Given the description of an element on the screen output the (x, y) to click on. 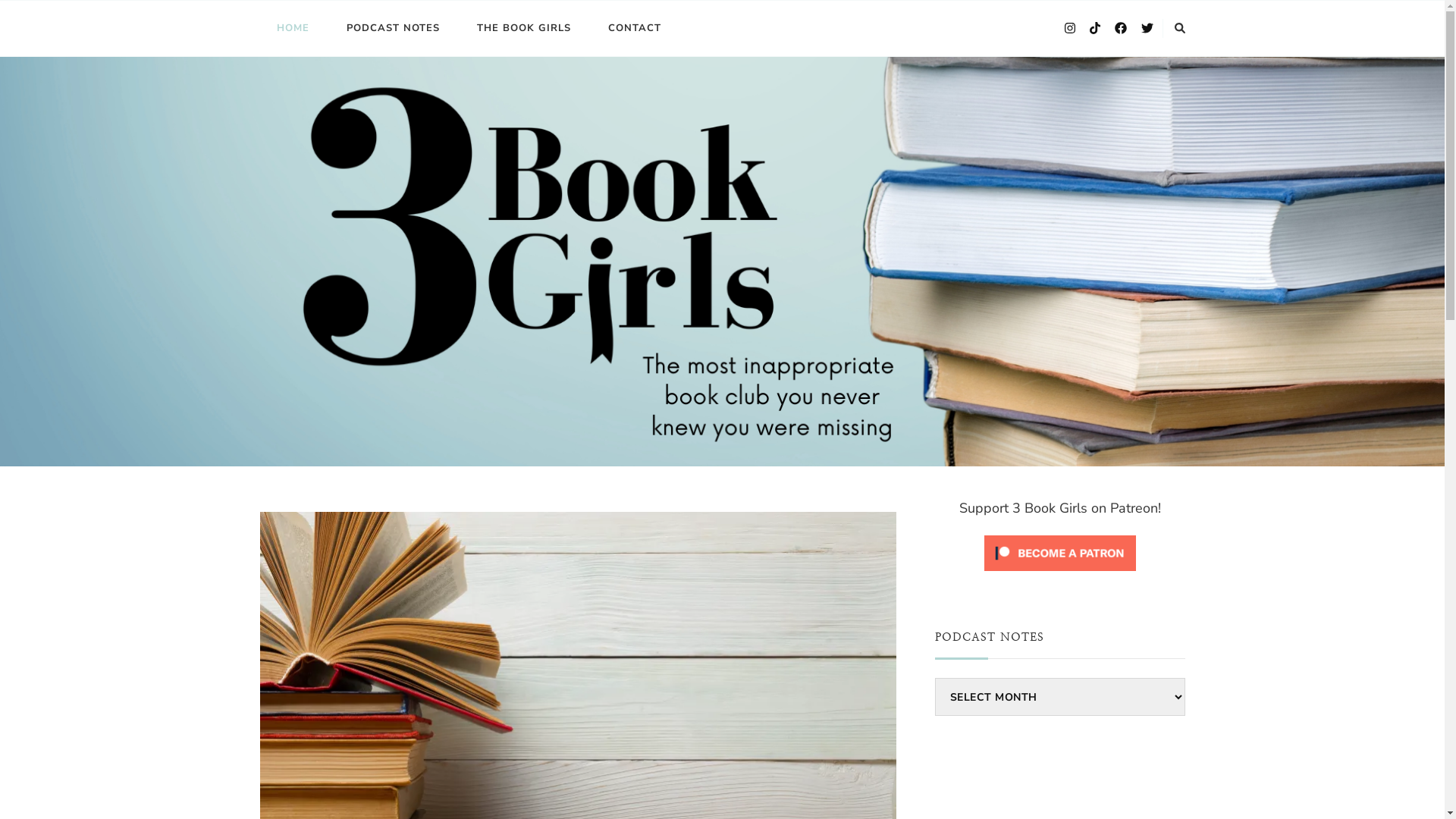
CONTACT Element type: text (634, 28)
PODCAST NOTES Element type: text (392, 28)
THE BOOK GIRLS Element type: text (522, 28)
HOME Element type: text (292, 28)
